Given the description of an element on the screen output the (x, y) to click on. 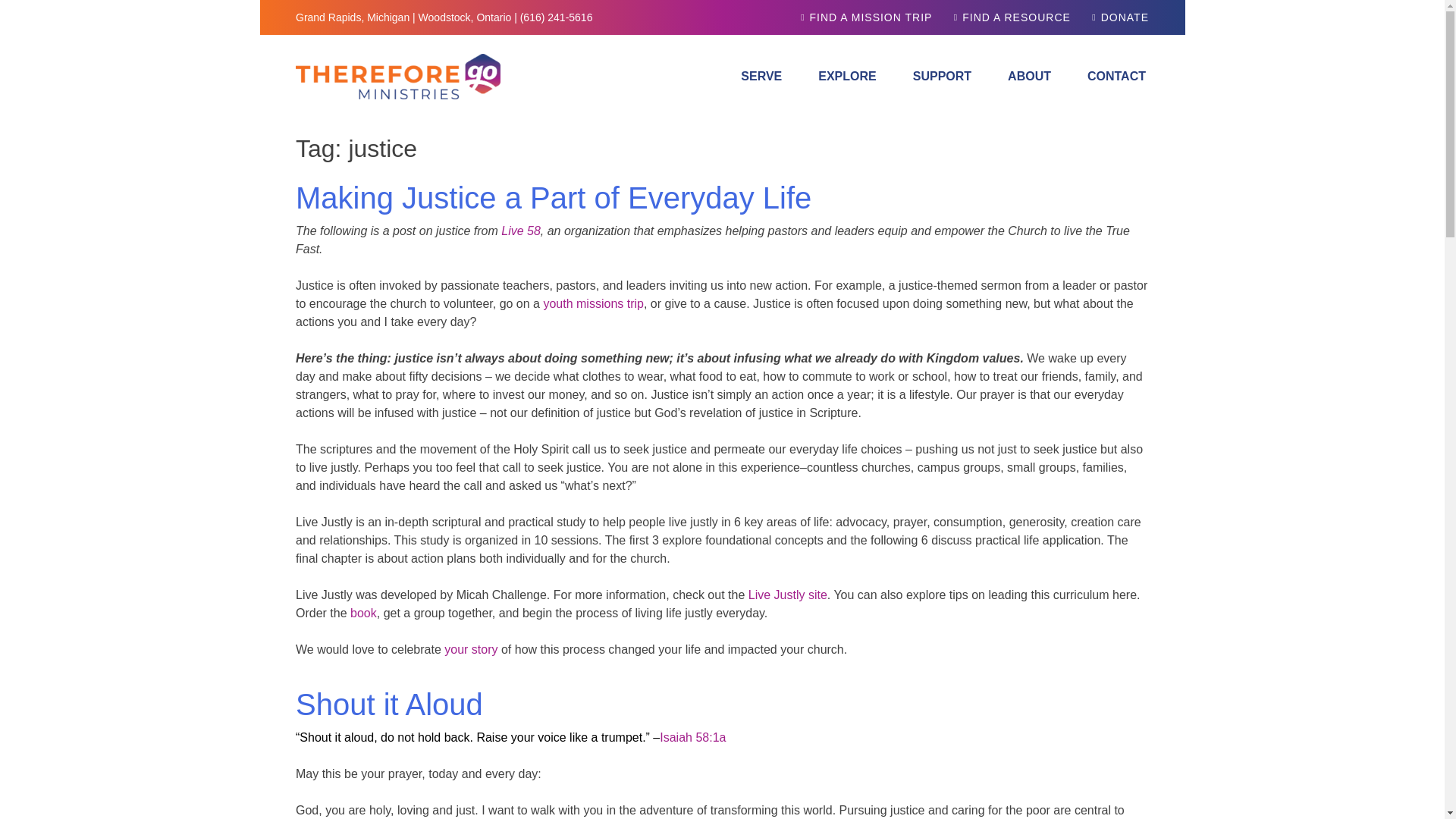
Explore (847, 76)
SERVE (760, 76)
Youth Mission Trip Locations (865, 17)
